Given the description of an element on the screen output the (x, y) to click on. 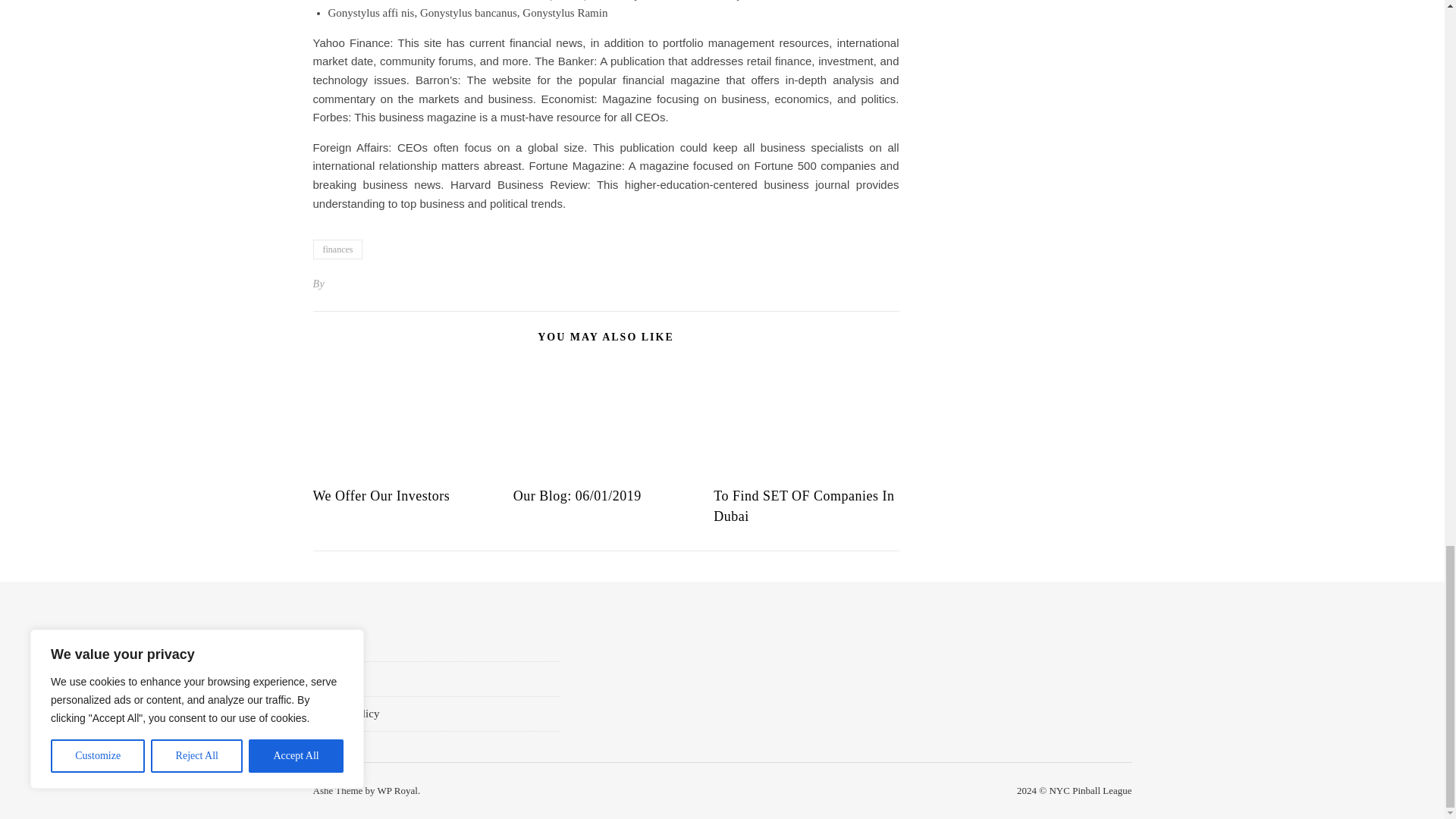
We Offer Our Investors (381, 495)
To Find SET OF Companies In Dubai (803, 506)
finances (337, 249)
